Given the description of an element on the screen output the (x, y) to click on. 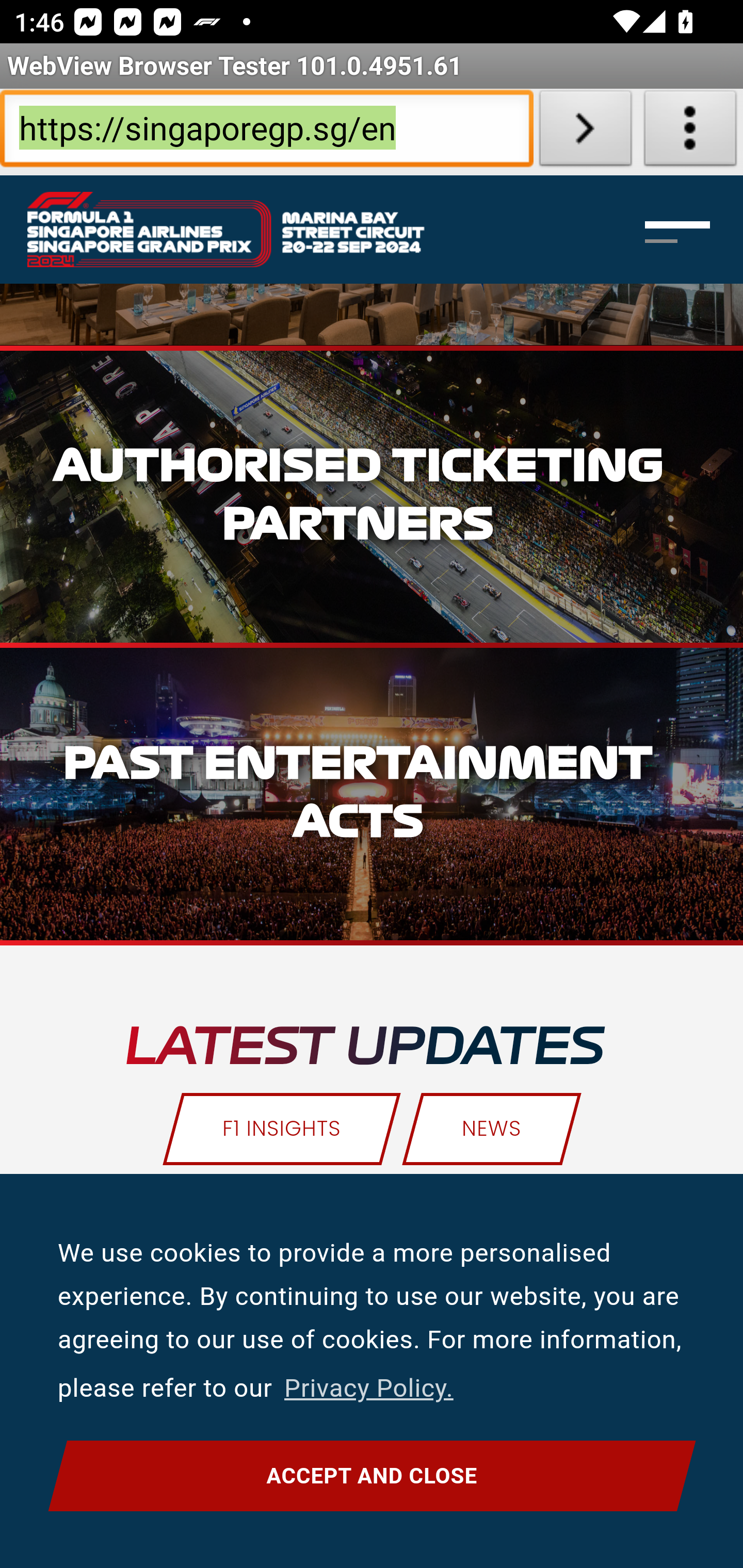
https://singaporegp.sg/en (266, 132)
Load URL (585, 132)
About WebView (690, 132)
Singapore Grand Prix Logo (247, 230)
F1 INSIGHTS (282, 1130)
NEWS (491, 1130)
learn more about cookies (368, 1389)
dismiss cookie message (371, 1476)
